Given the description of an element on the screen output the (x, y) to click on. 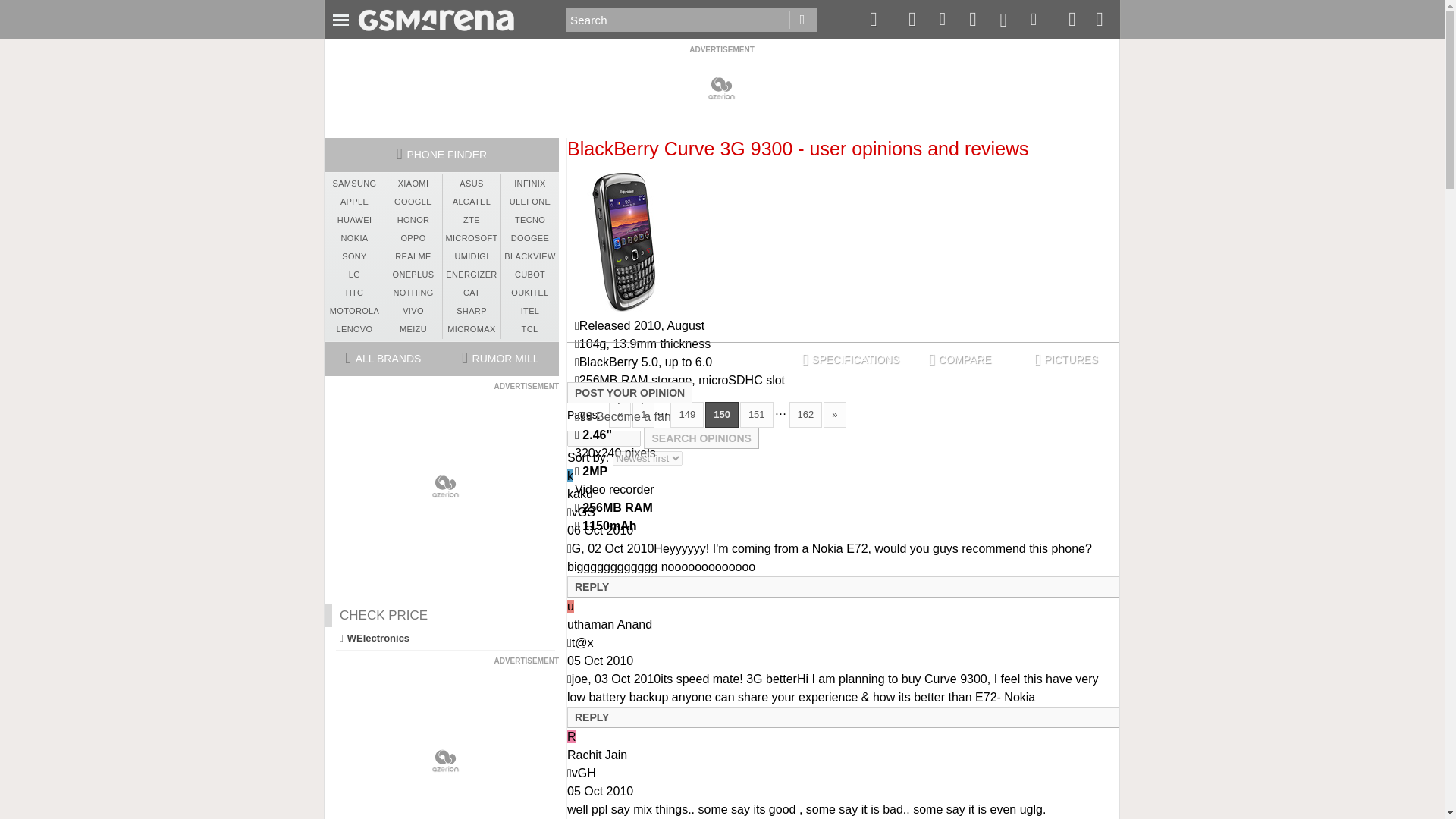
Search opinions (700, 437)
Previous page (619, 414)
Encoded anonymized location (583, 642)
162 (805, 414)
1 (642, 414)
151 (756, 414)
Search opinions (700, 437)
REPLY (591, 586)
Reply to this post (591, 586)
COMPARE (960, 359)
PICTURES (1066, 359)
Reply to this post (591, 717)
Sort comments by (647, 458)
POST YOUR OPINION (630, 392)
